Given the description of an element on the screen output the (x, y) to click on. 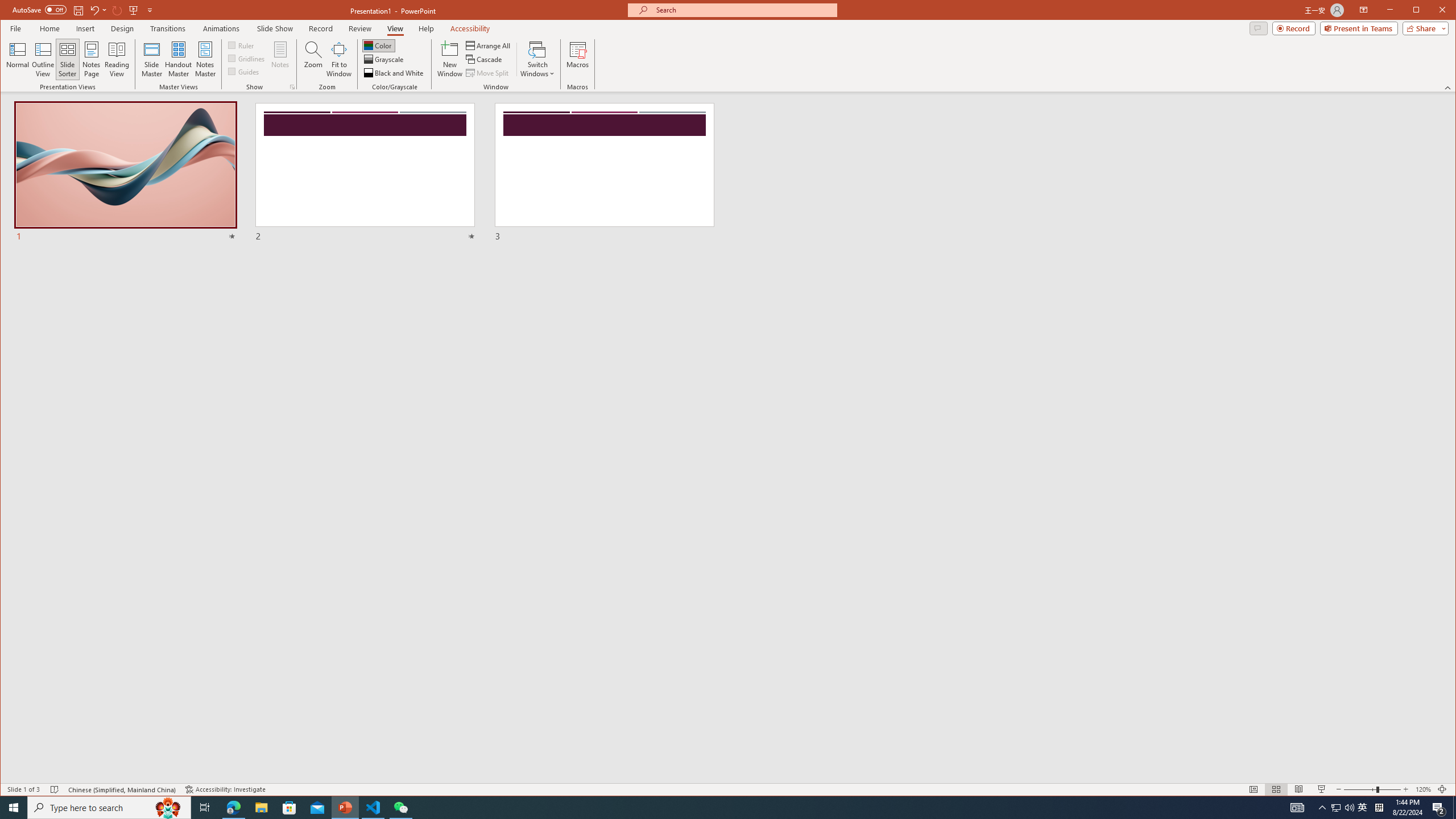
Slide Master (151, 59)
Notes Master (204, 59)
Outline View (42, 59)
